Given the description of an element on the screen output the (x, y) to click on. 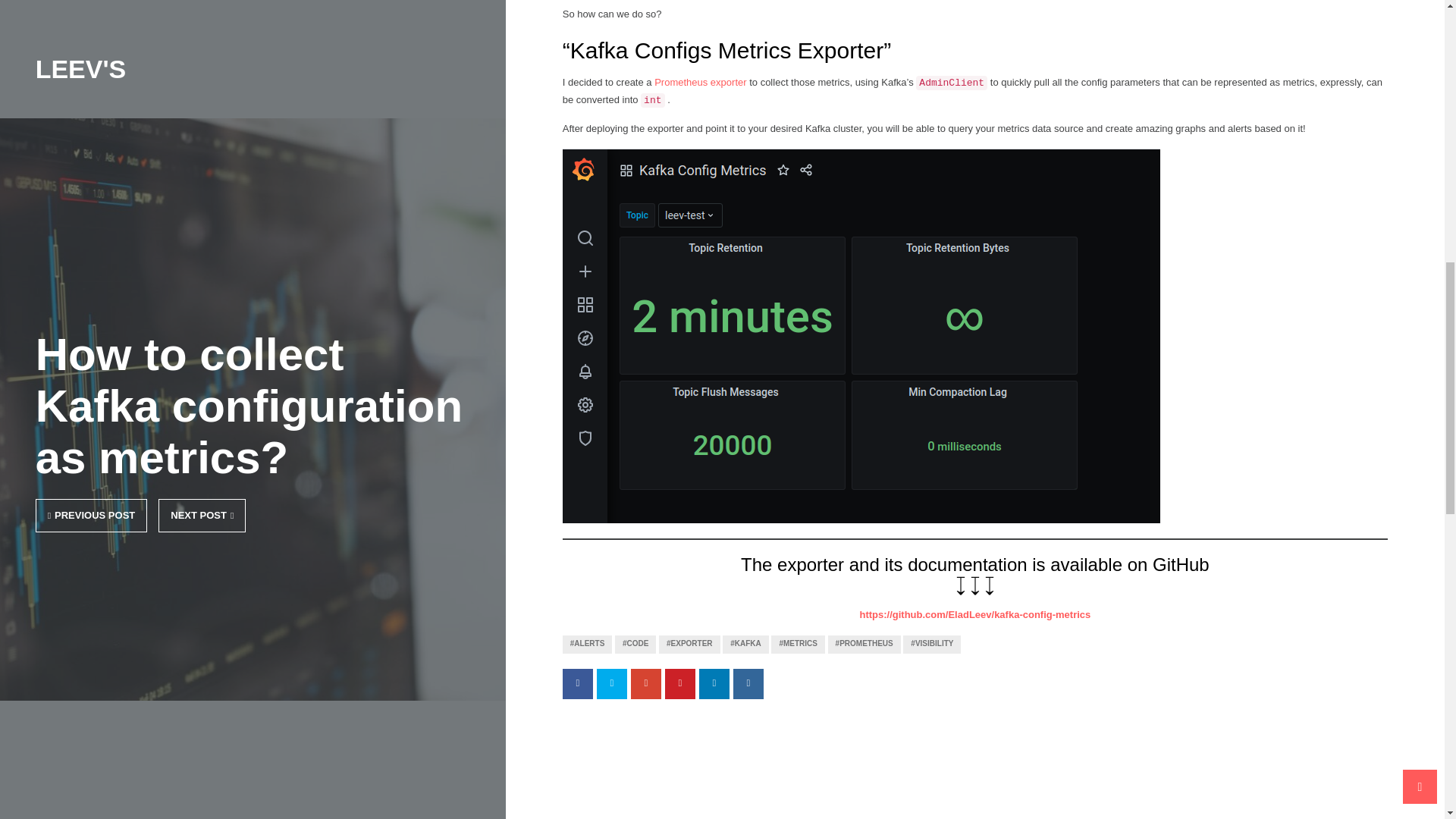
Share on Linkedin (713, 684)
Share on Pinterest (680, 684)
Share on Google Plus (645, 684)
Share on Facebook (577, 684)
Prometheus exporter (699, 81)
Share on Twitter (611, 684)
